Given the description of an element on the screen output the (x, y) to click on. 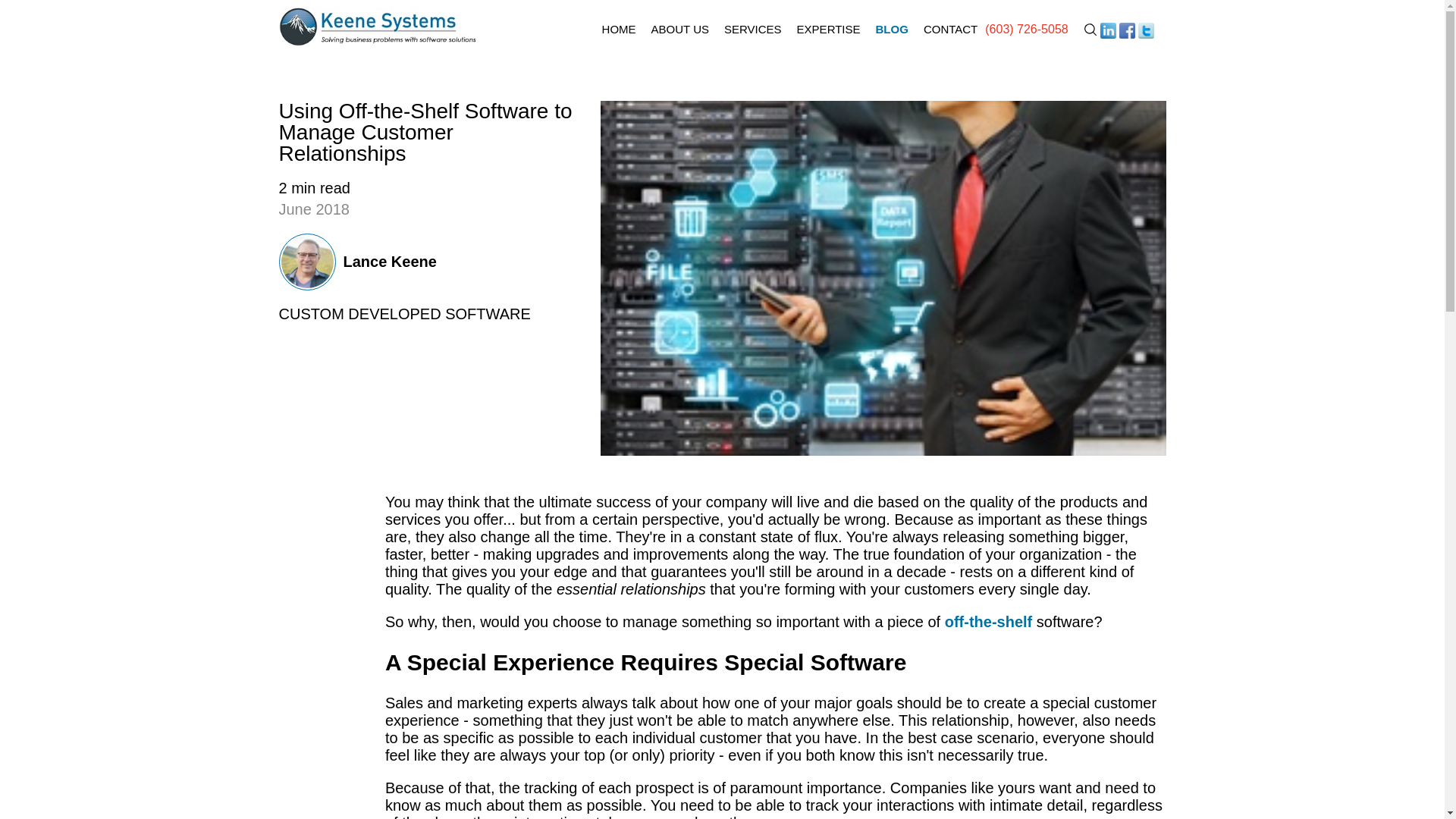
HOME (619, 33)
ABOUT US (679, 33)
EXPERTISE (828, 33)
logo (381, 26)
SERVICES (752, 33)
